Given the description of an element on the screen output the (x, y) to click on. 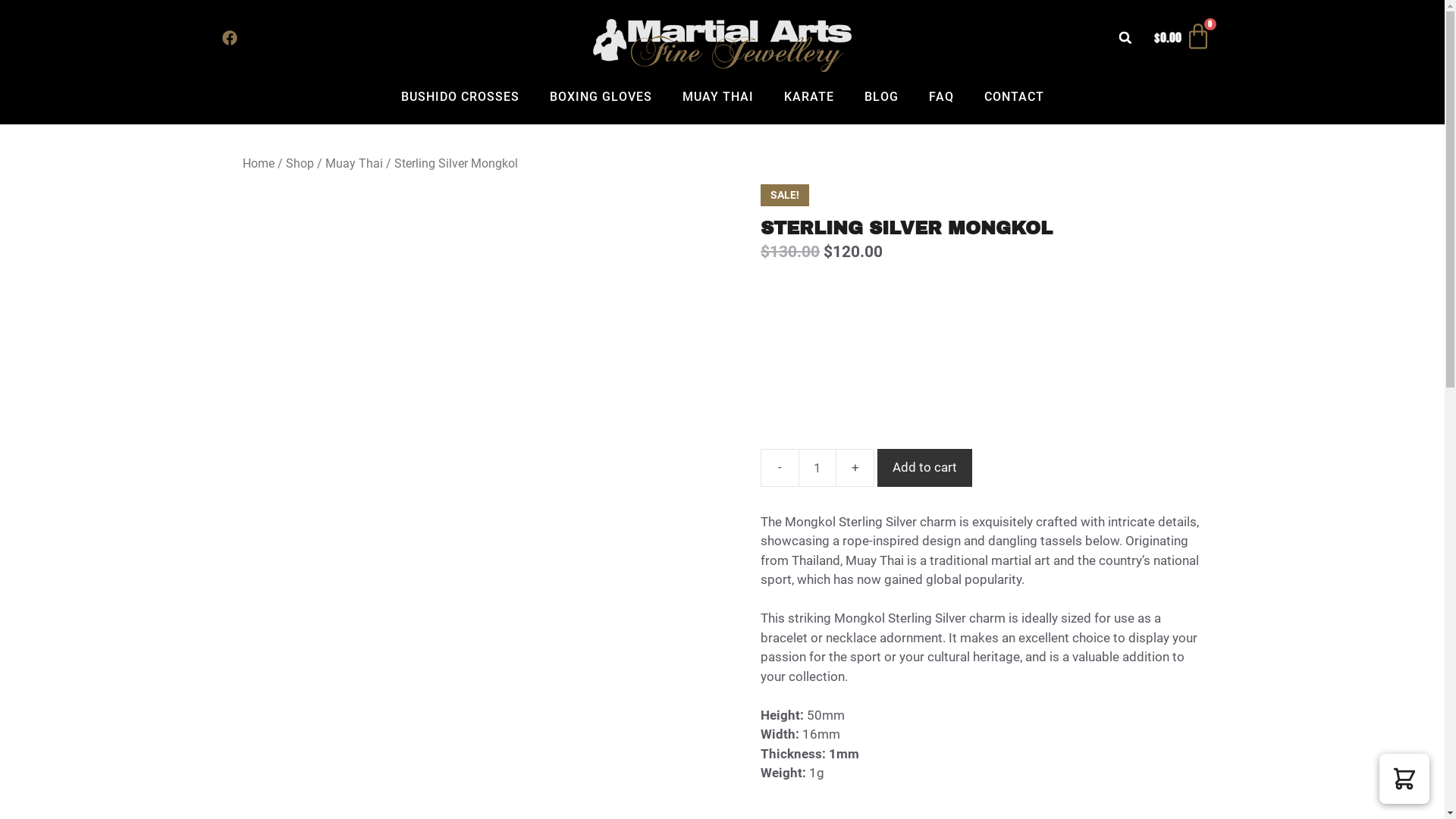
KARATE Element type: text (808, 96)
BOXING GLOVES Element type: text (599, 96)
Muay Thai Element type: text (353, 163)
Add to cart Element type: text (924, 467)
Shop Element type: text (299, 163)
Home Element type: text (258, 163)
CONTACT Element type: text (1014, 96)
BUSHIDO CROSSES Element type: text (459, 96)
$0.00
0 Element type: text (1182, 37)
FAQ Element type: text (940, 96)
MUAY THAI Element type: text (717, 96)
BLOG Element type: text (881, 96)
